Given the description of an element on the screen output the (x, y) to click on. 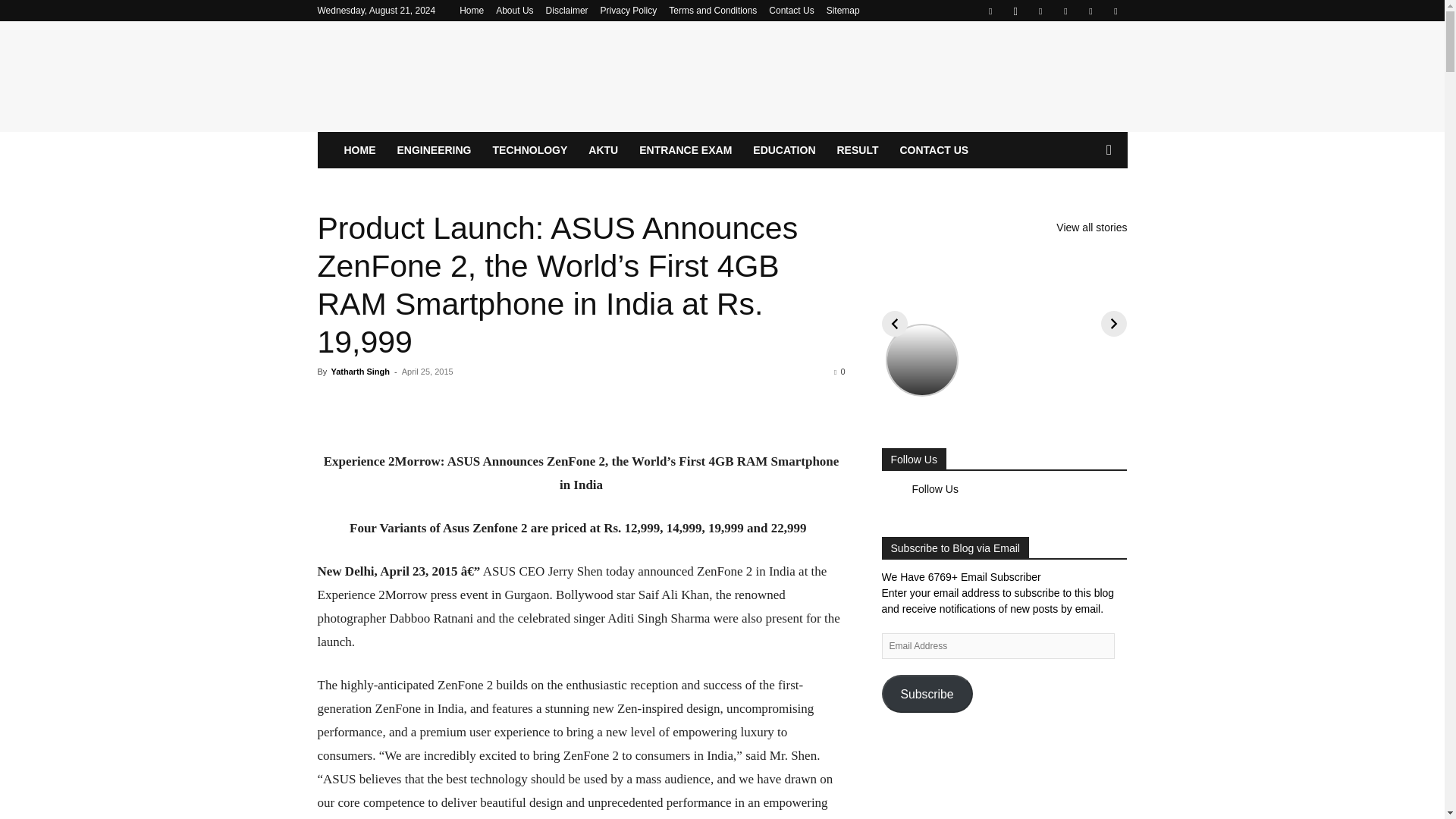
Twitter (1090, 10)
Youtube (1114, 10)
Facebook (989, 10)
Linkedin (1040, 10)
Paypal (1065, 10)
Instagram (1015, 10)
